Given the description of an element on the screen output the (x, y) to click on. 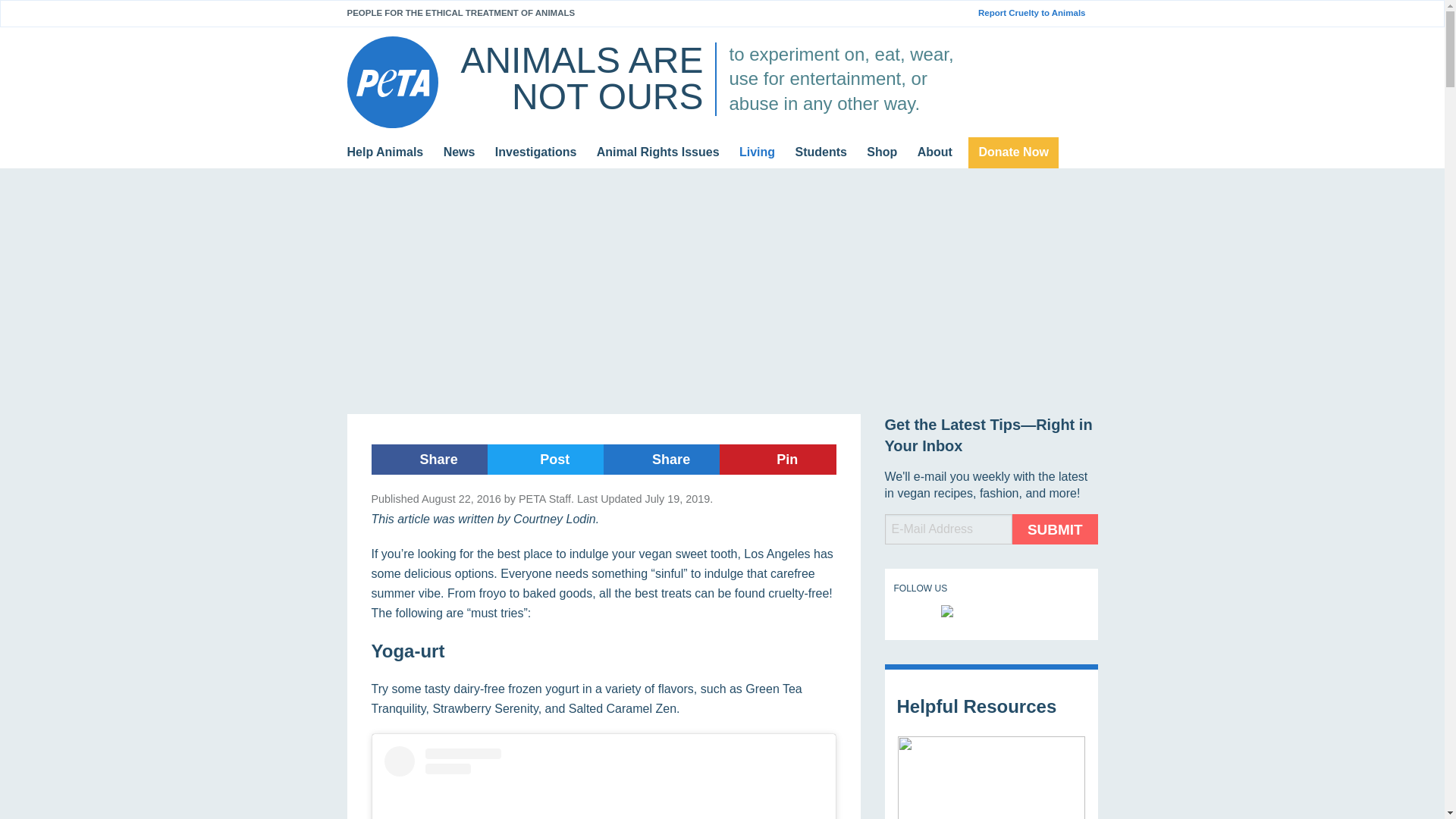
Submit (1054, 529)
PEOPLE FOR THE ETHICAL TREATMENT OF ANIMALS (461, 13)
Report Cruelty to Animals (1037, 13)
ANIMALS ARE NOT OURS (581, 78)
